Given the description of an element on the screen output the (x, y) to click on. 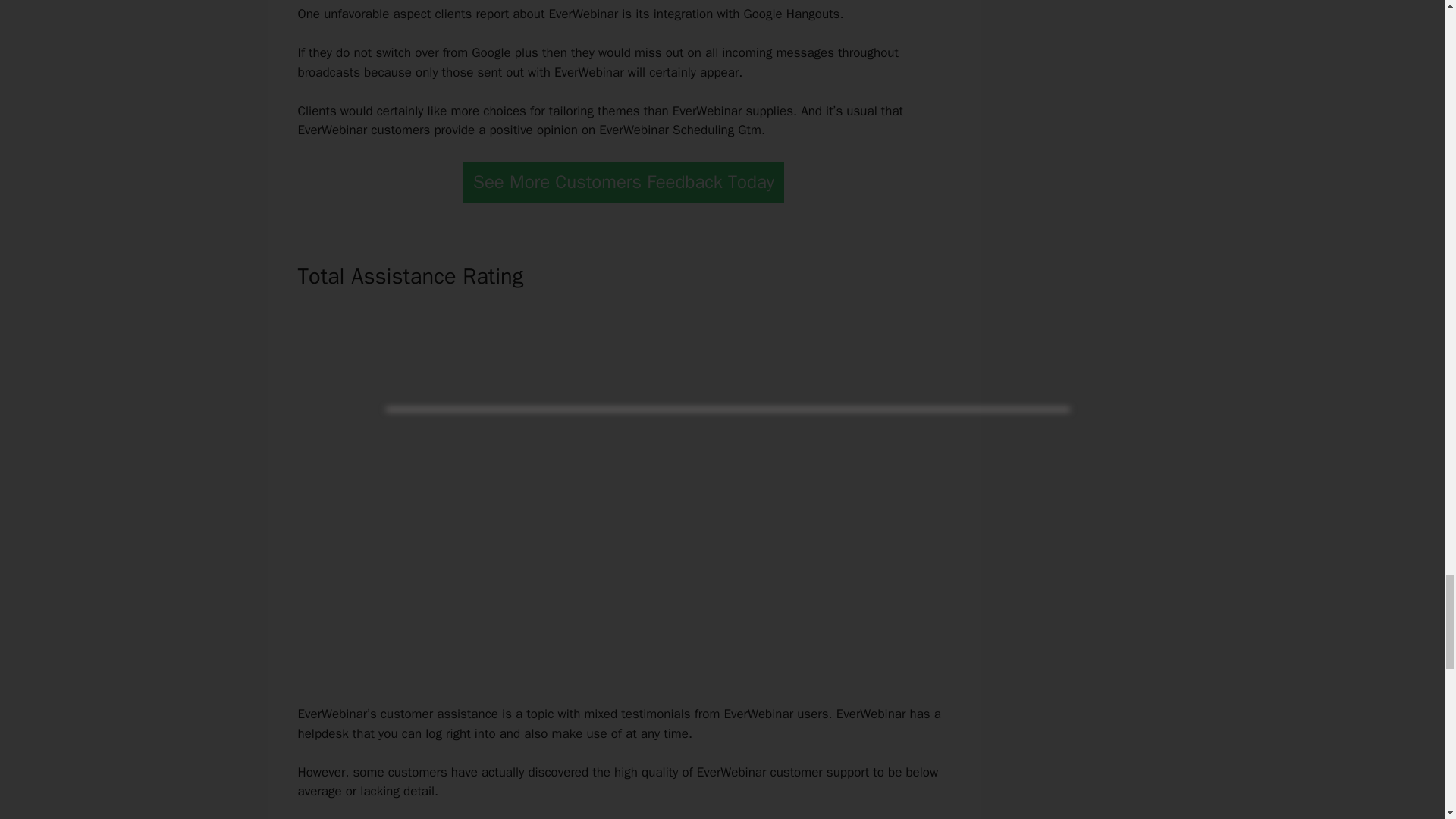
See More Customers Feedback Today (623, 182)
